Given the description of an element on the screen output the (x, y) to click on. 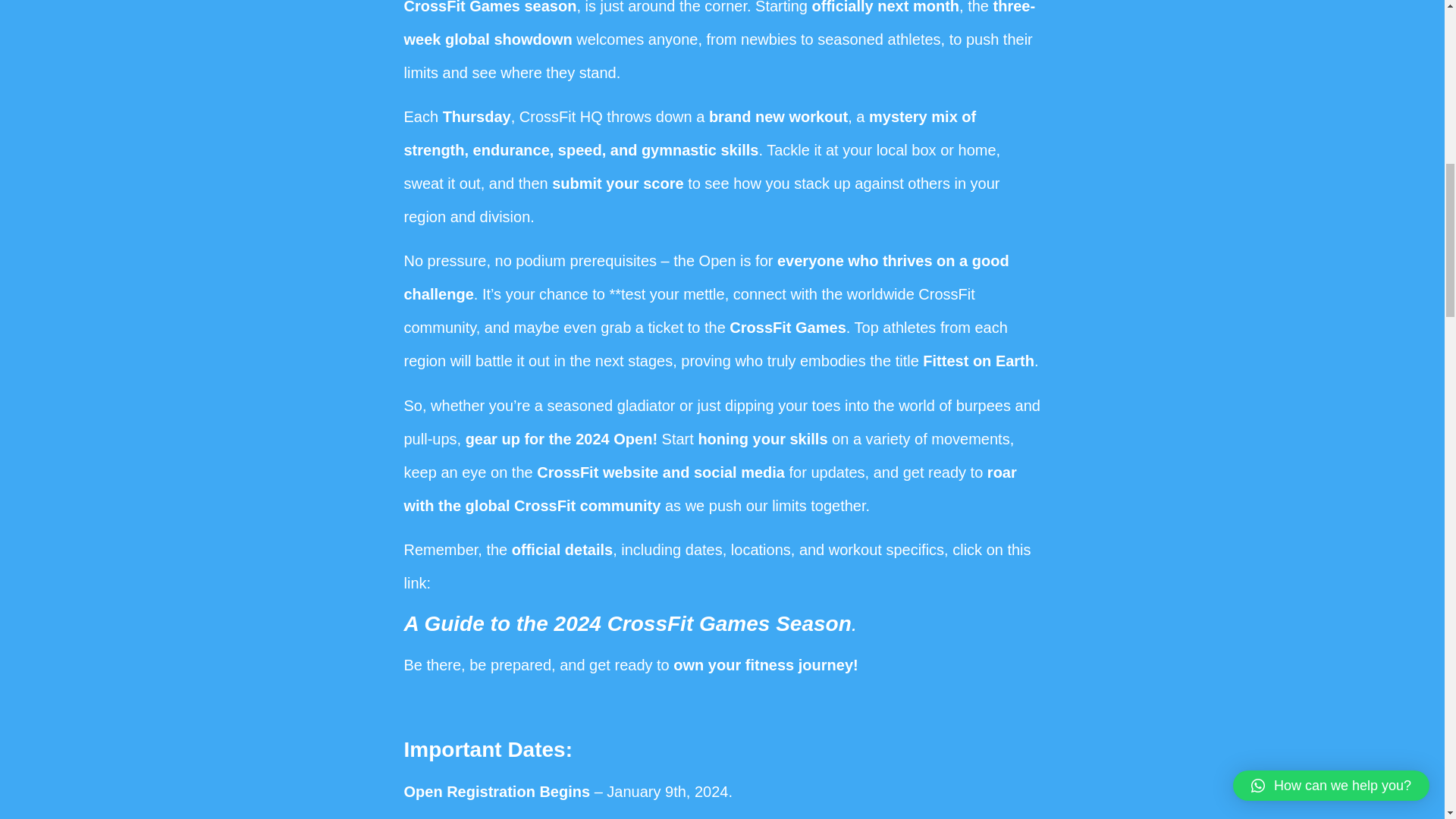
A Guide to the 2024 CrossFit Games Season (626, 623)
